Given the description of an element on the screen output the (x, y) to click on. 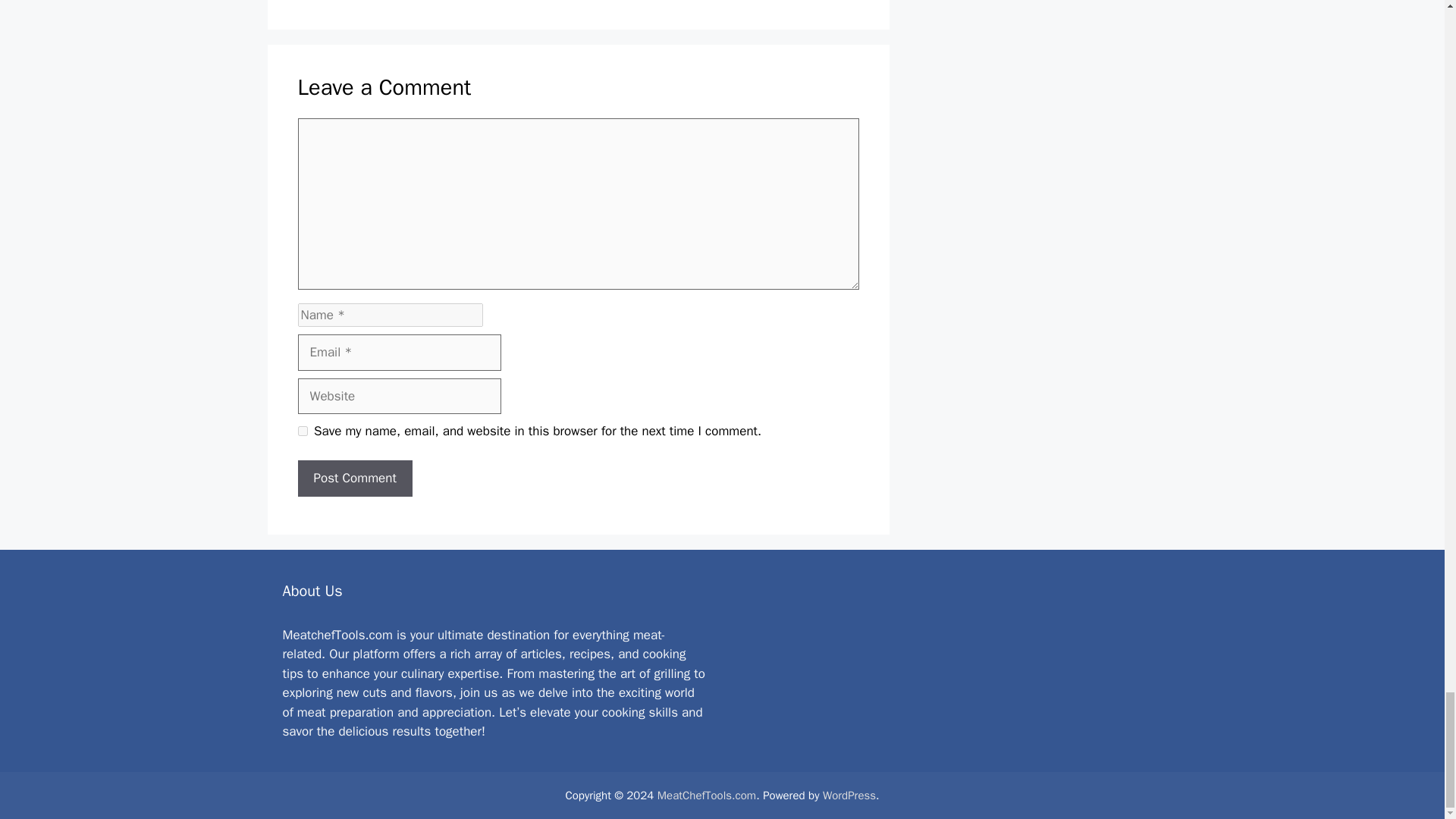
Post Comment (354, 478)
yes (302, 430)
Post Comment (354, 478)
